Given the description of an element on the screen output the (x, y) to click on. 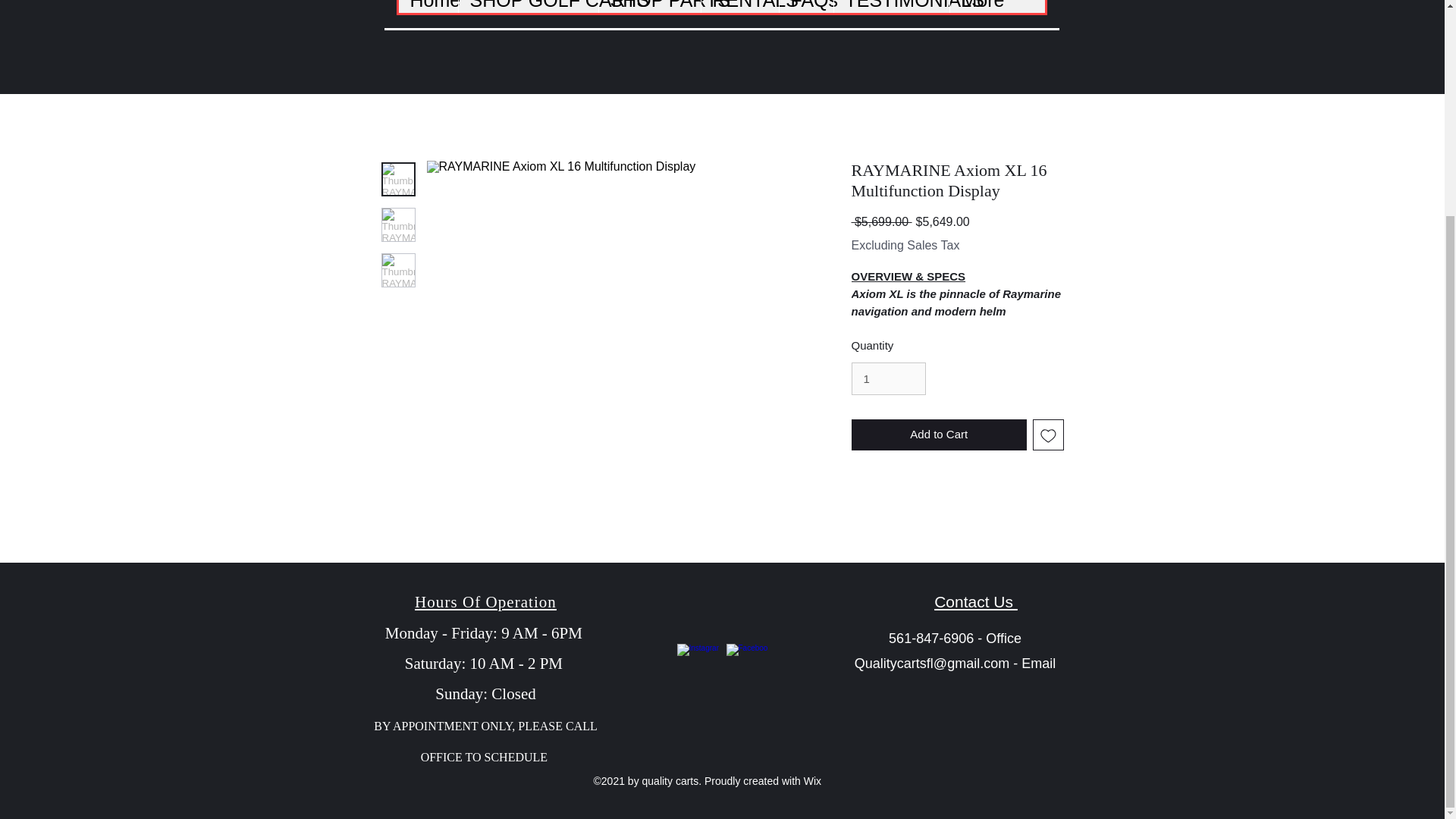
SHOP PARTS (648, 6)
SHOP GOLF CARTS (528, 6)
1 (887, 378)
Home (428, 6)
TESTIMONIALS (890, 6)
RENTALS (739, 6)
Add to Cart (938, 434)
FAQs (804, 6)
